Given the description of an element on the screen output the (x, y) to click on. 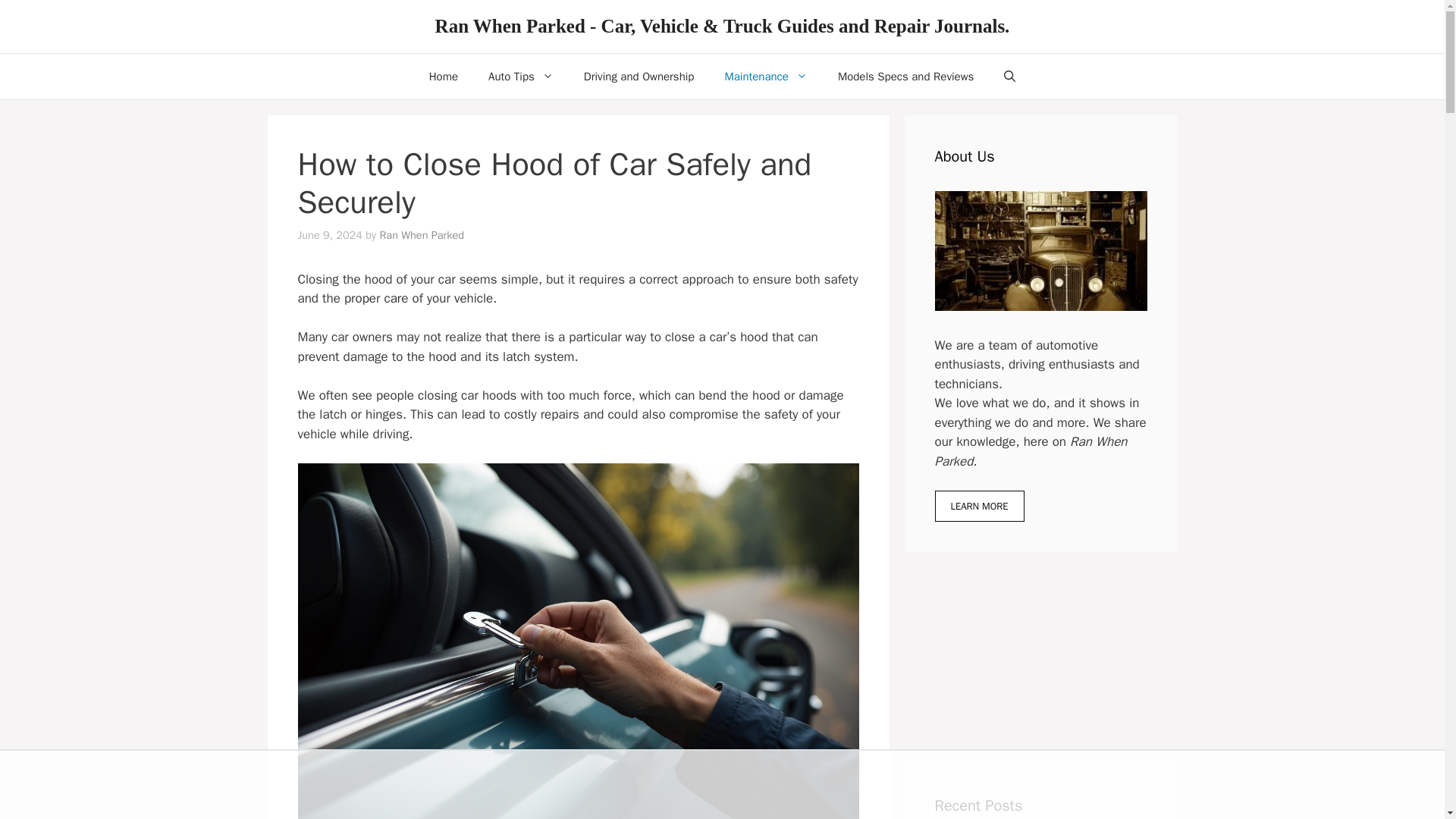
Models Specs and Reviews (905, 76)
Maintenance (765, 76)
Ran When Parked (421, 234)
Auto Tips (521, 76)
Driving and Ownership (639, 76)
Home (443, 76)
View all posts by Ran When Parked (421, 234)
